Given the description of an element on the screen output the (x, y) to click on. 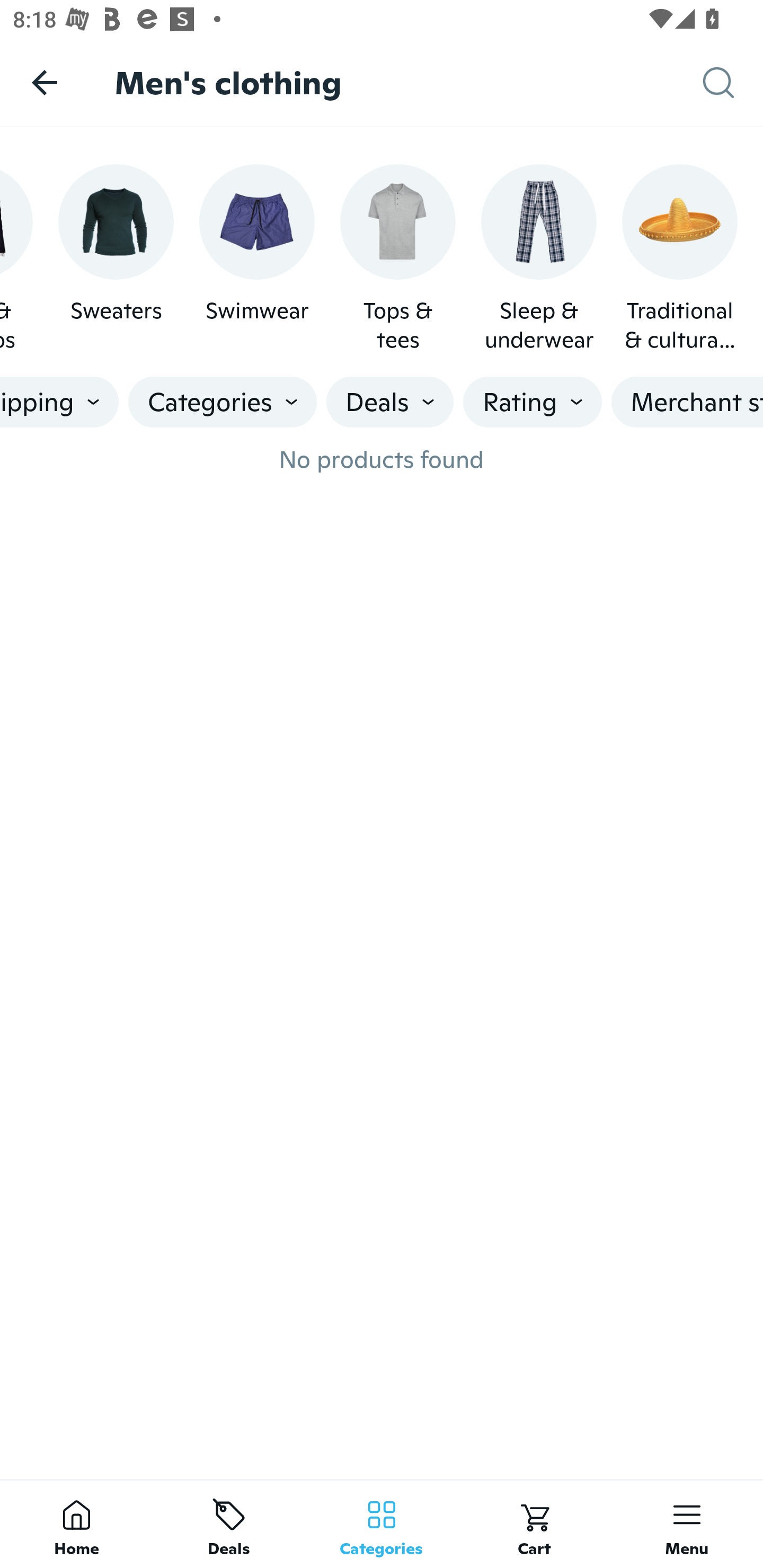
Navigate up (44, 82)
Search (732, 82)
Sweaters (115, 259)
Swimwear (256, 259)
Tops & tees (397, 259)
Sleep & underwear (538, 259)
Traditional & cultural wear (679, 259)
Shipping (59, 402)
Categories (222, 402)
Deals (389, 402)
Rating (532, 402)
Home (76, 1523)
Deals (228, 1523)
Categories (381, 1523)
Cart (533, 1523)
Menu (686, 1523)
